Given the description of an element on the screen output the (x, y) to click on. 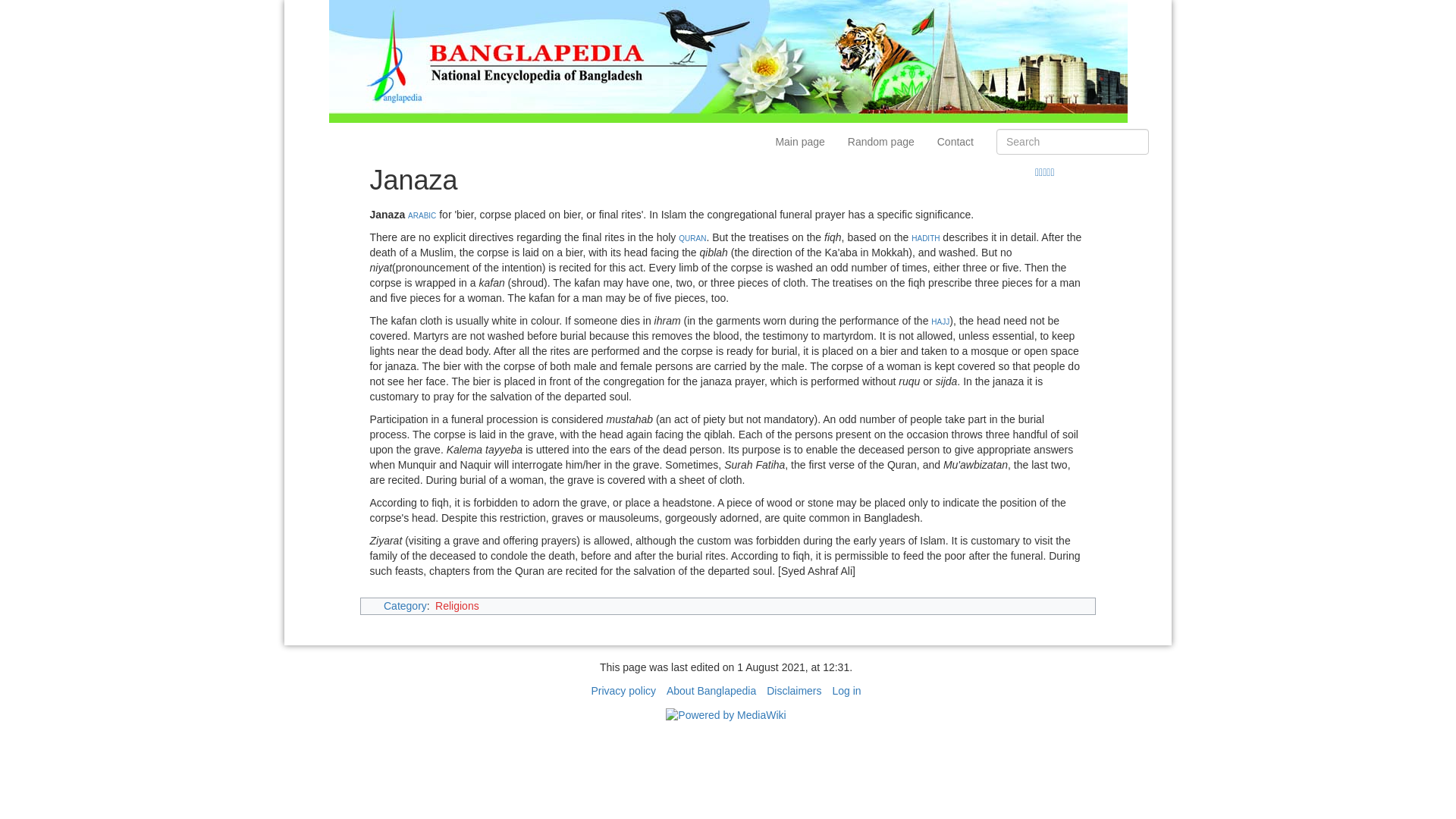
quran (692, 236)
Contact (955, 141)
Al-Quran, The Holy (692, 236)
Hajj (940, 320)
arabic (421, 214)
About Banglapedia (710, 690)
Privacy policy (623, 690)
Hadith (925, 236)
Special:Categories (405, 605)
Log in (845, 690)
Religions (457, 605)
Special:Search (1071, 141)
Random page (880, 141)
Arabic (421, 214)
hajj (940, 320)
